Given the description of an element on the screen output the (x, y) to click on. 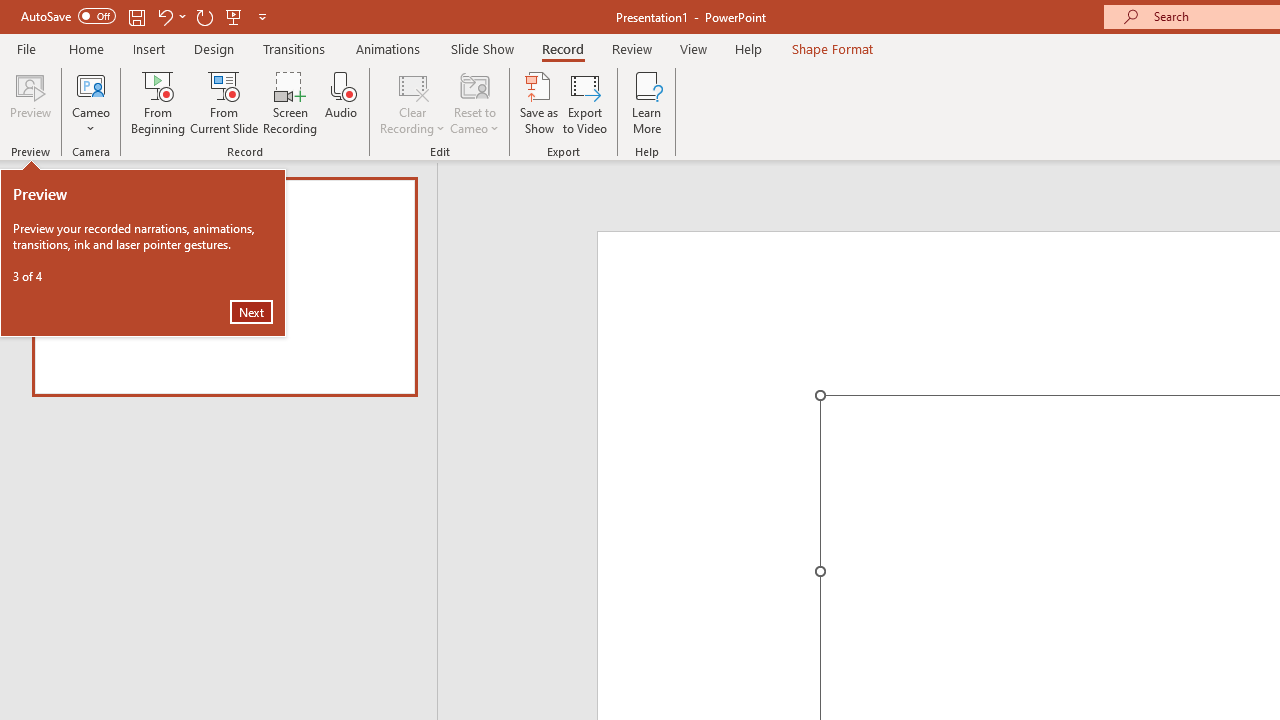
Screen Recording (290, 102)
From Current Slide... (224, 102)
Clear Recording (412, 102)
Save as Show (539, 102)
